Given the description of an element on the screen output the (x, y) to click on. 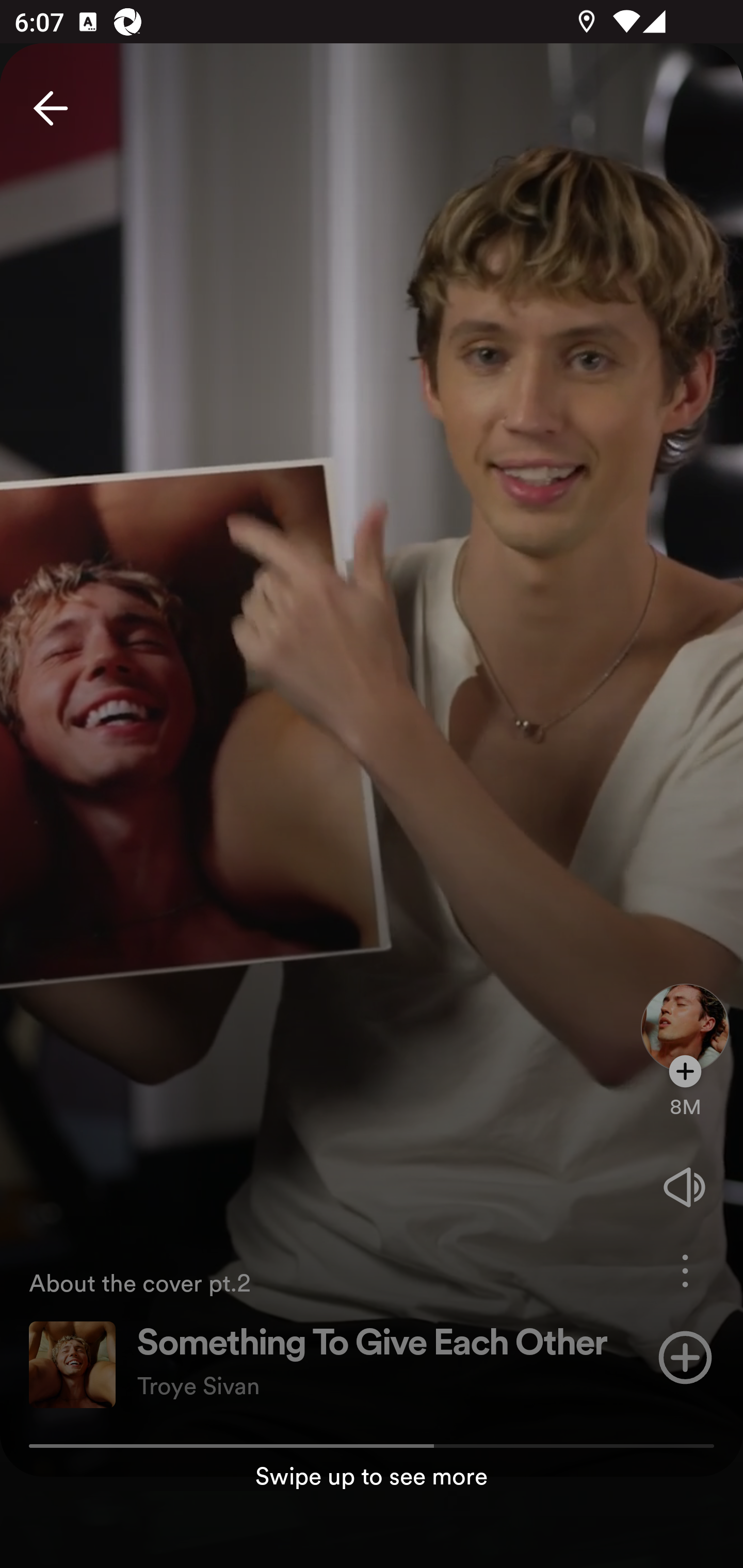
Back (50, 108)
Navigate to Troye Sivan artist page (685, 1011)
8000000 followers. Follow Troye Sivan (685, 1096)
Mute (685, 1187)
More options for song  (685, 1271)
About the cover pt.2 (320, 1281)
Add item (684, 1356)
